Given the description of an element on the screen output the (x, y) to click on. 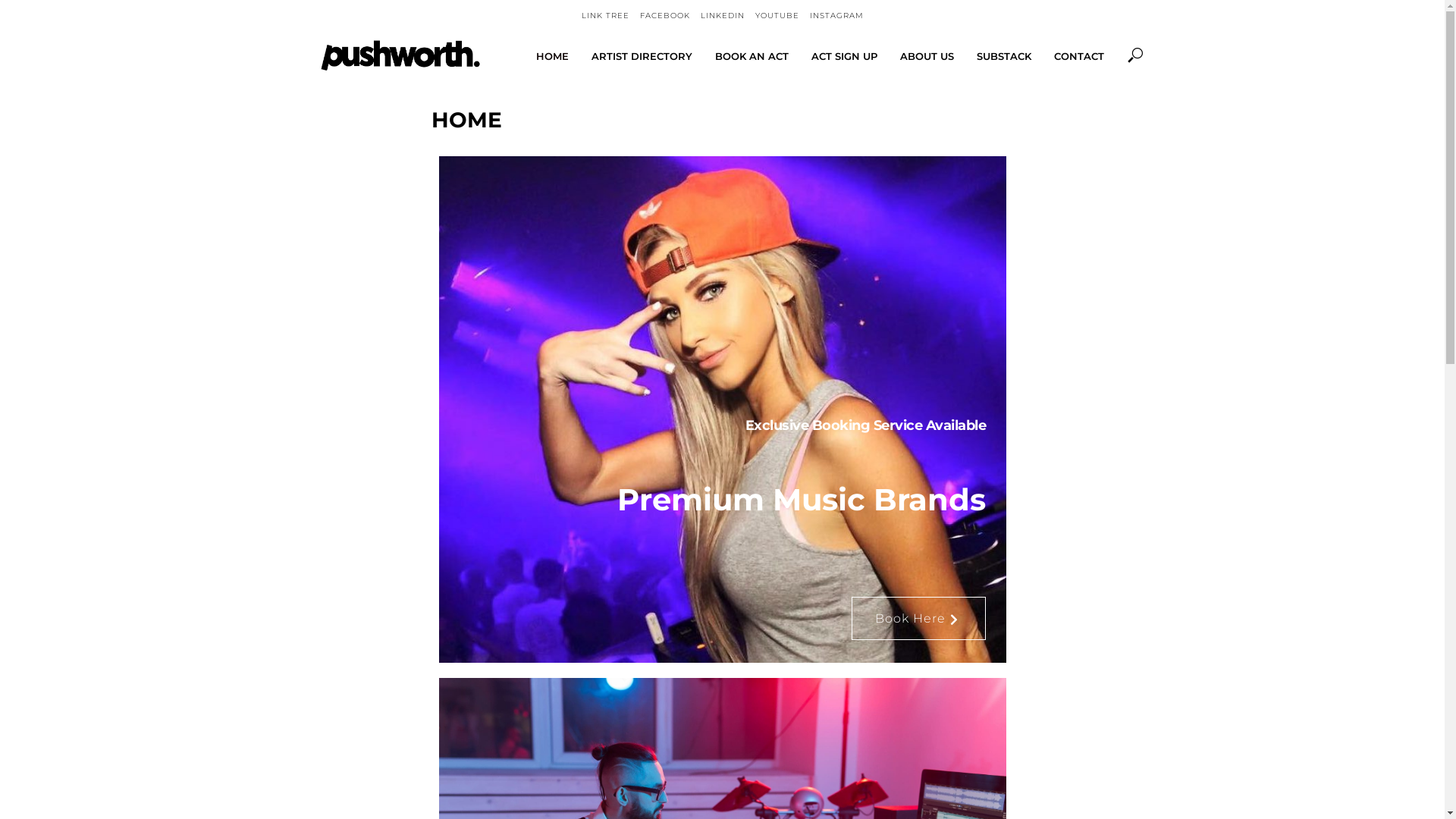
INSTAGRAM Element type: text (836, 15)
Premium Music Brands Element type: text (722, 499)
LINK TREE Element type: text (604, 15)
HOME Element type: text (552, 55)
Book Here Element type: text (917, 618)
ABOUT US Element type: text (926, 55)
CONTACT Element type: text (1077, 55)
SUBSTACK Element type: text (1002, 55)
ARTIST DIRECTORY Element type: text (640, 55)
BOOK AN ACT Element type: text (751, 55)
LINKEDIN Element type: text (722, 15)
YOUTUBE Element type: text (777, 15)
FACEBOOK Element type: text (665, 15)
ACT SIGN UP Element type: text (843, 55)
